Given the description of an element on the screen output the (x, y) to click on. 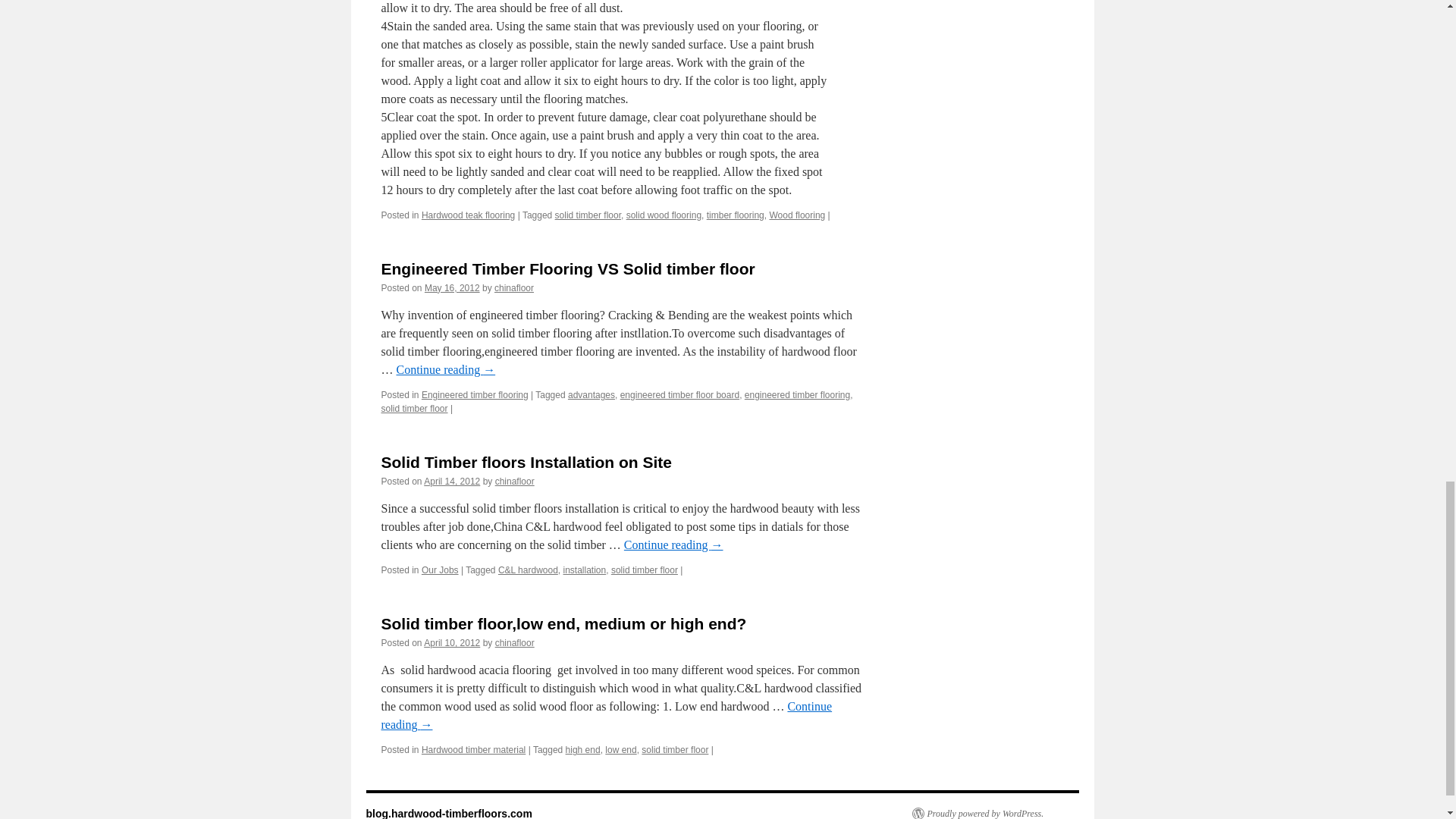
View all posts by chinafloor (514, 480)
11:40 am (451, 643)
April 10, 2012 (451, 643)
Wood flooring (796, 214)
solid timber floor (413, 408)
solid timber floor (644, 570)
advantages (590, 394)
engineered timber flooring (797, 394)
chinafloor (514, 287)
Engineered Timber Flooring VS Solid timber floor (567, 268)
